Given the description of an element on the screen output the (x, y) to click on. 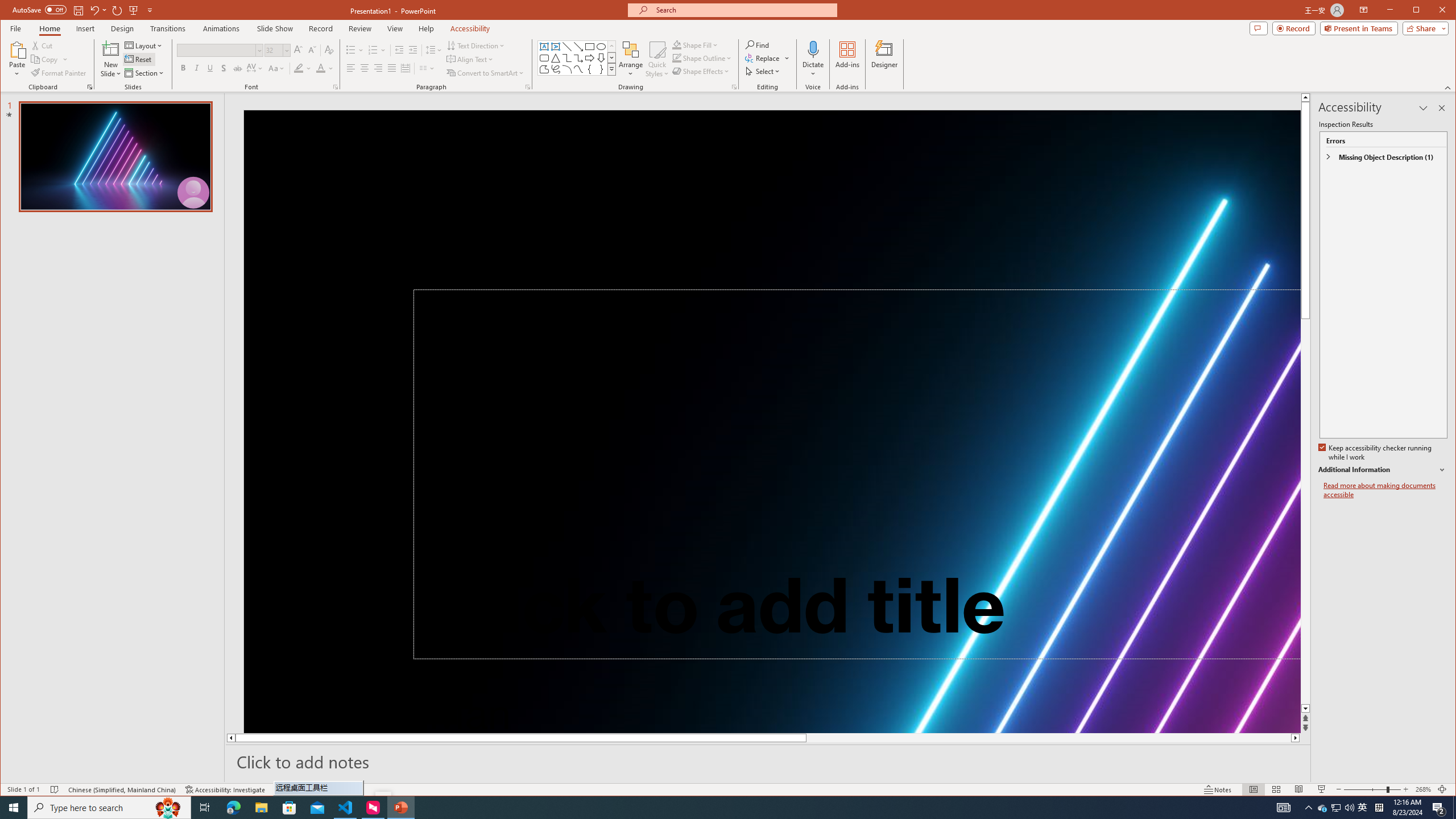
Microsoft Store (289, 807)
Change Case (276, 68)
Align Right (377, 68)
Select (763, 70)
Text Box (544, 46)
Shape Effects (702, 70)
Italic (196, 68)
Show desktop (1454, 807)
Isosceles Triangle (556, 57)
